Given the description of an element on the screen output the (x, y) to click on. 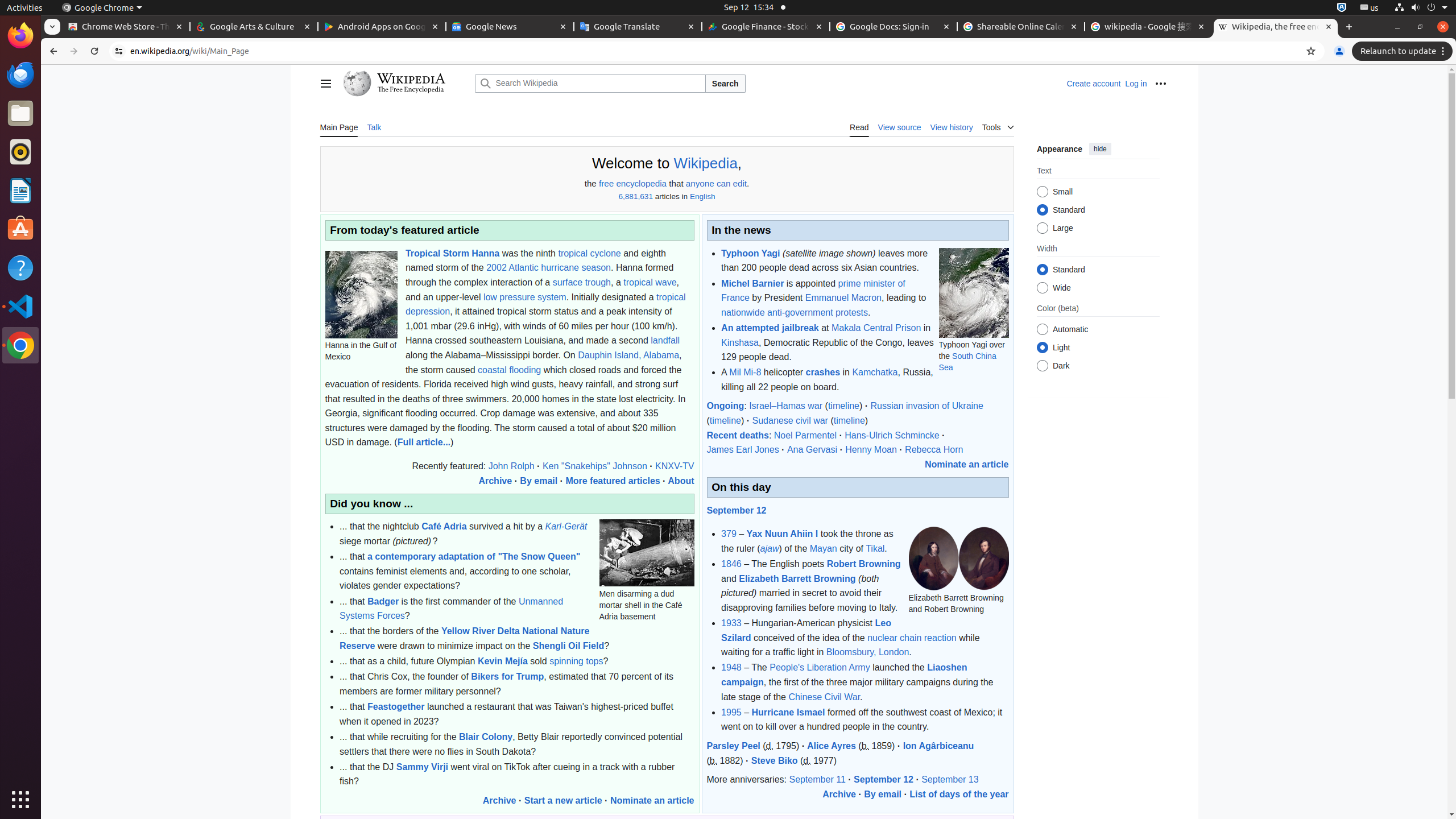
Blair Colony Element type: link (485, 736)
Yax Nuun Ahiin I Element type: link (782, 533)
Google Arts & Culture - Memory usage - 122 MB Element type: page-tab (253, 26)
Men disarming a dud mortar shell in the Café Adria basement Element type: link (646, 552)
Wikipedia The Free Encyclopedia Element type: link (405, 83)
